Given the description of an element on the screen output the (x, y) to click on. 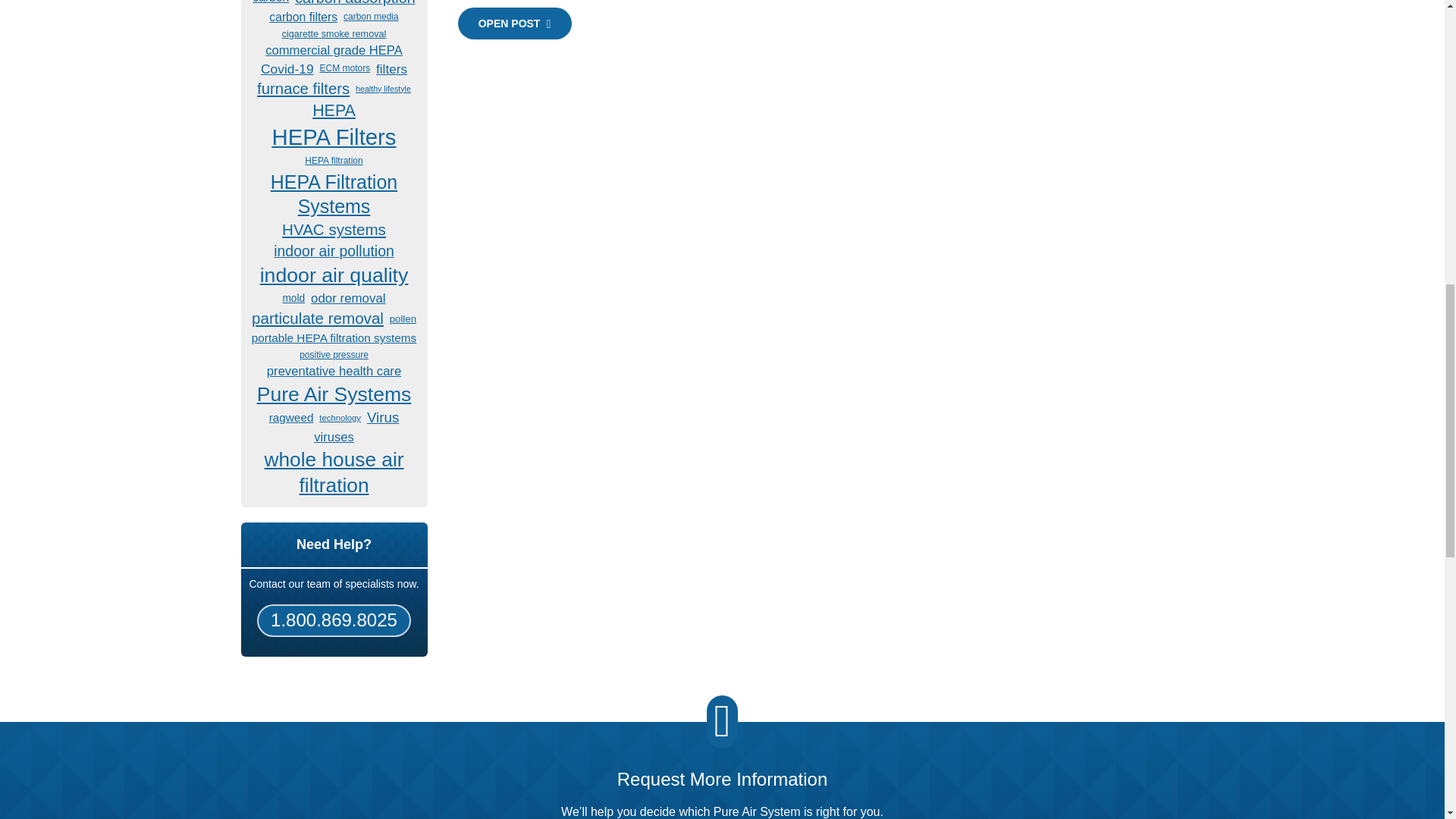
OPEN POST (515, 23)
